Given the description of an element on the screen output the (x, y) to click on. 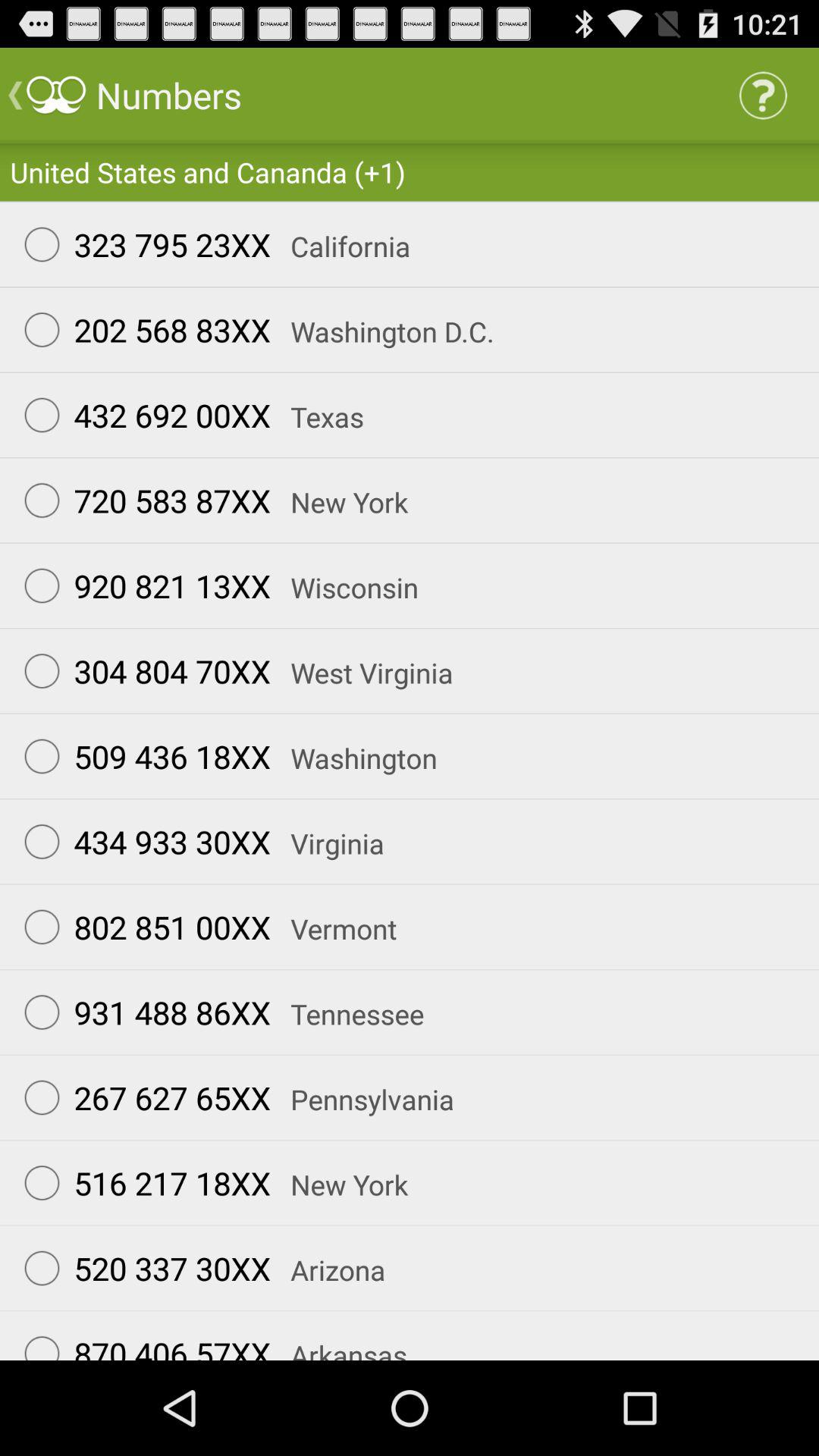
choose the item to the left of wisconsin app (140, 585)
